Given the description of an element on the screen output the (x, y) to click on. 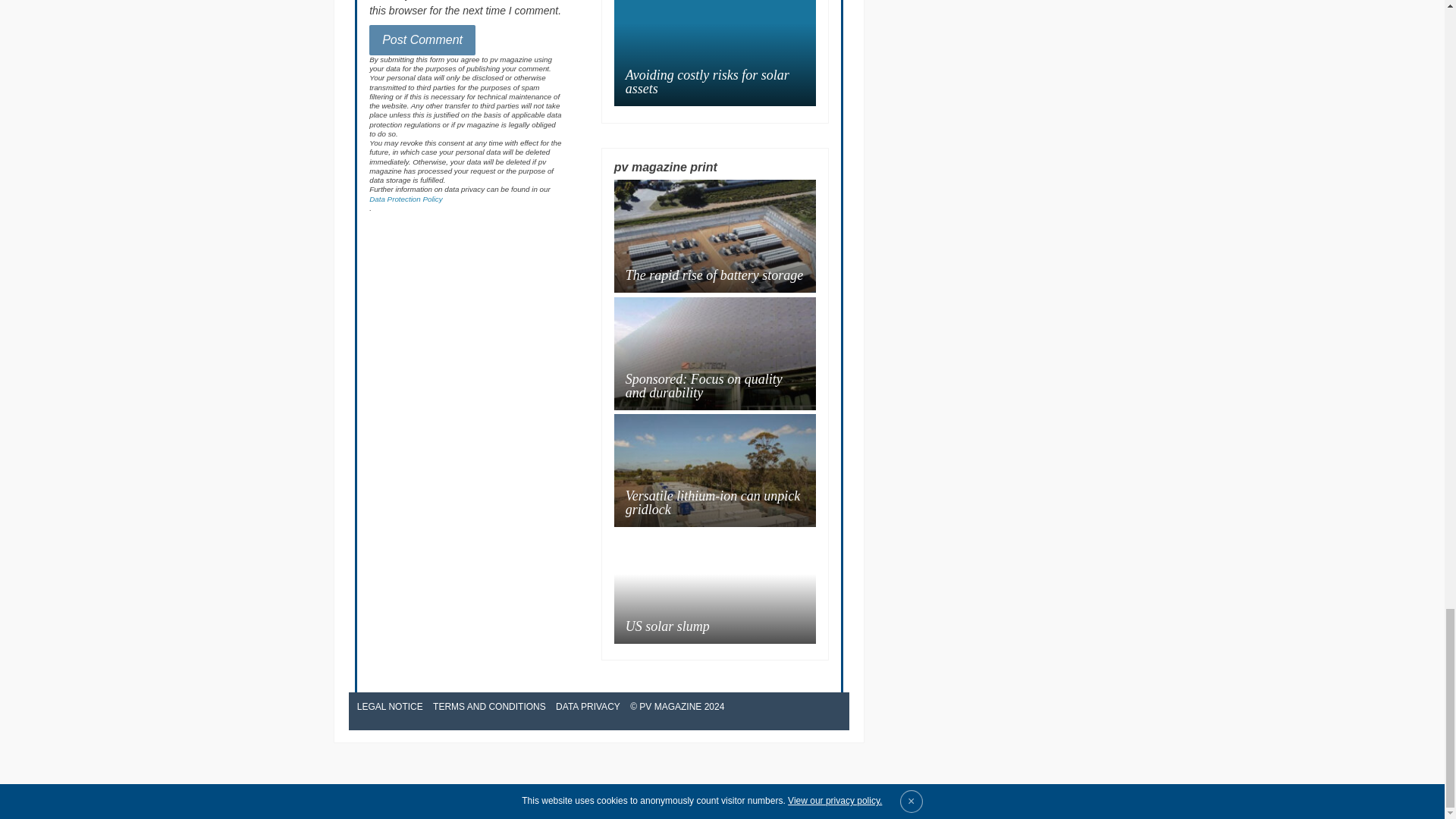
Post Comment (422, 40)
